Given the description of an element on the screen output the (x, y) to click on. 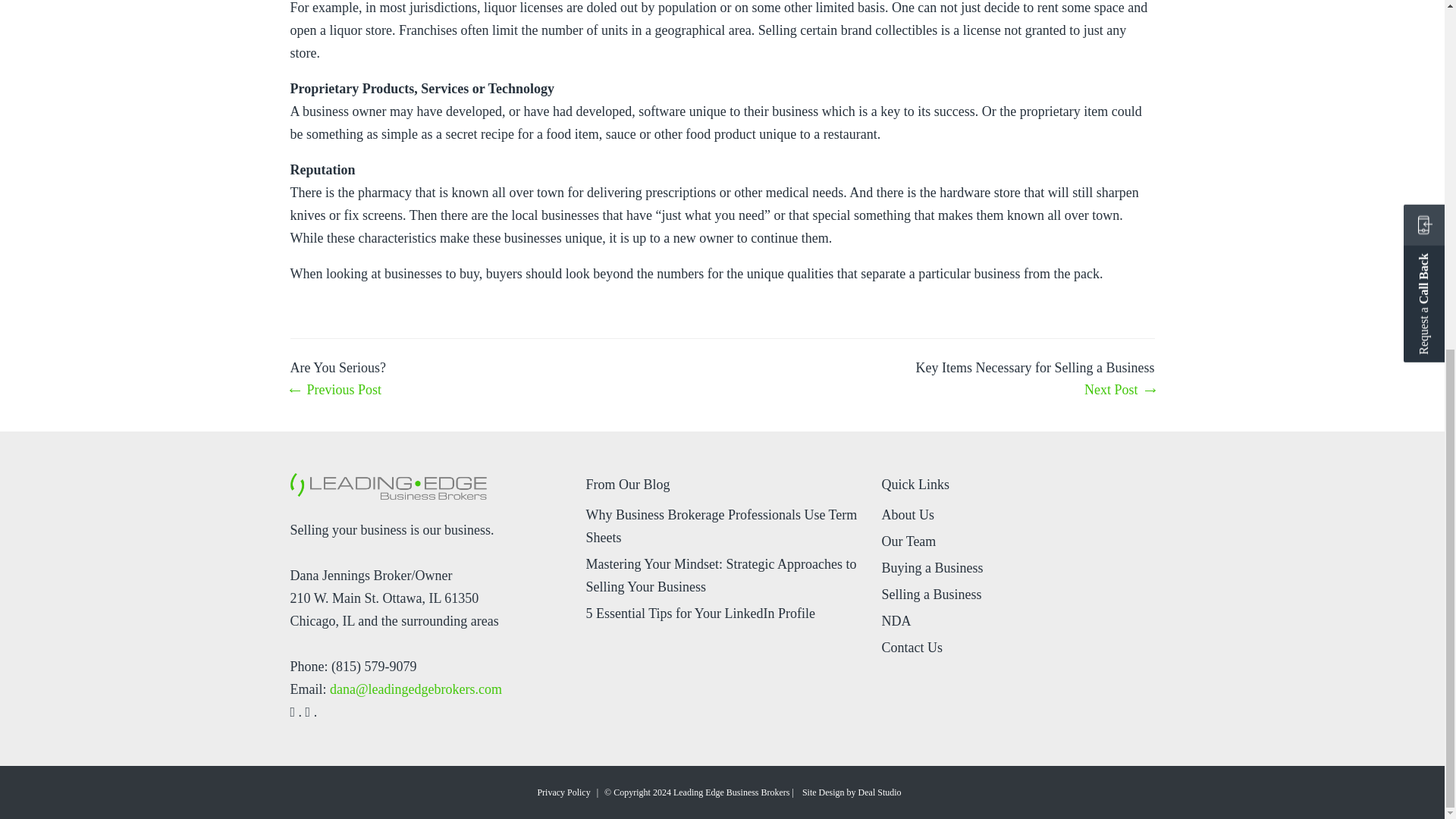
Are You Serious? (337, 379)
Key Items Necessary for Selling a Business (1034, 379)
